Given the description of an element on the screen output the (x, y) to click on. 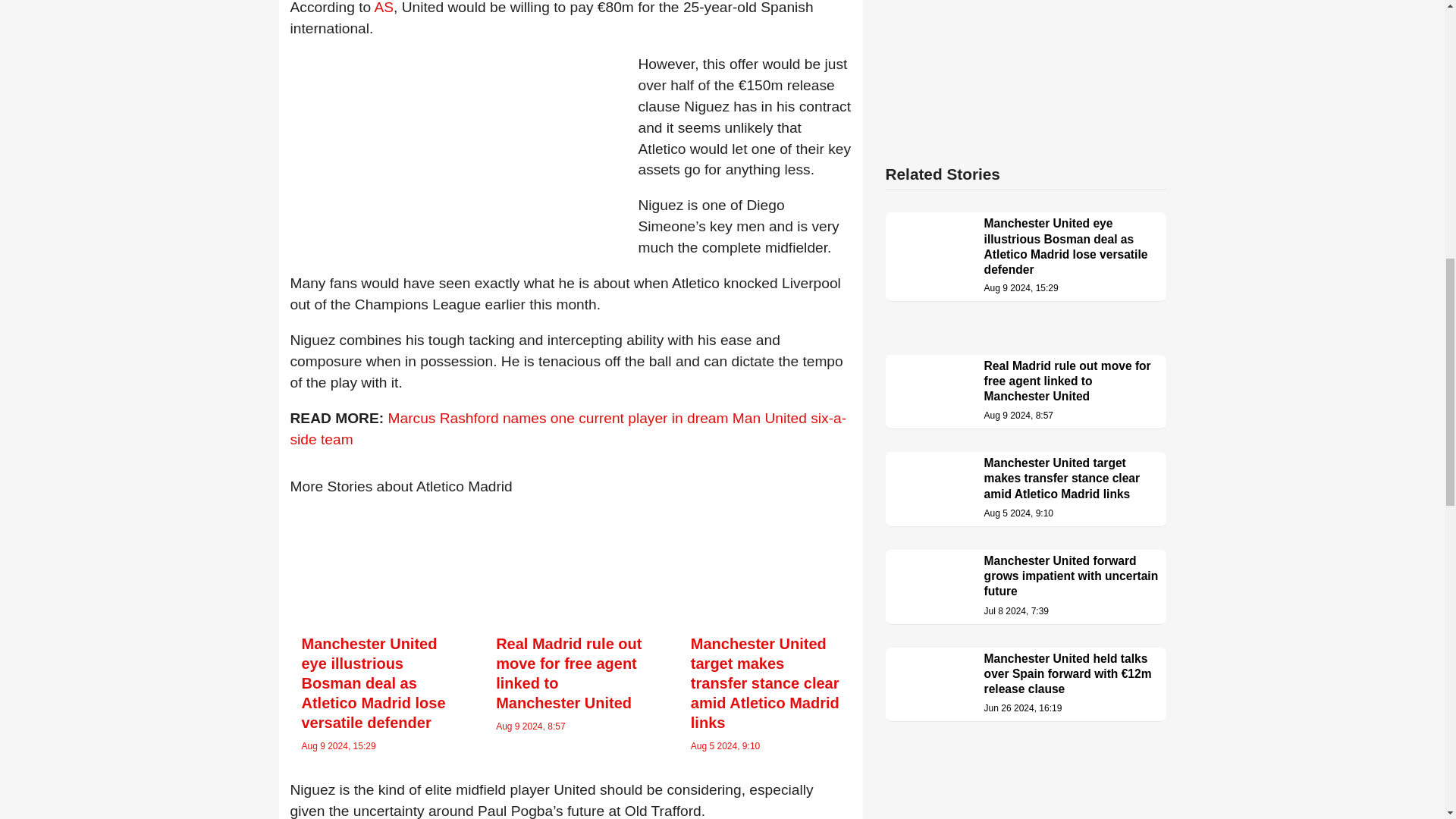
Aug 5 2024, 9:10 (725, 746)
AS (383, 7)
Aug 9 2024, 15:29 (338, 746)
Aug 9 2024, 8:57 (530, 726)
